Given the description of an element on the screen output the (x, y) to click on. 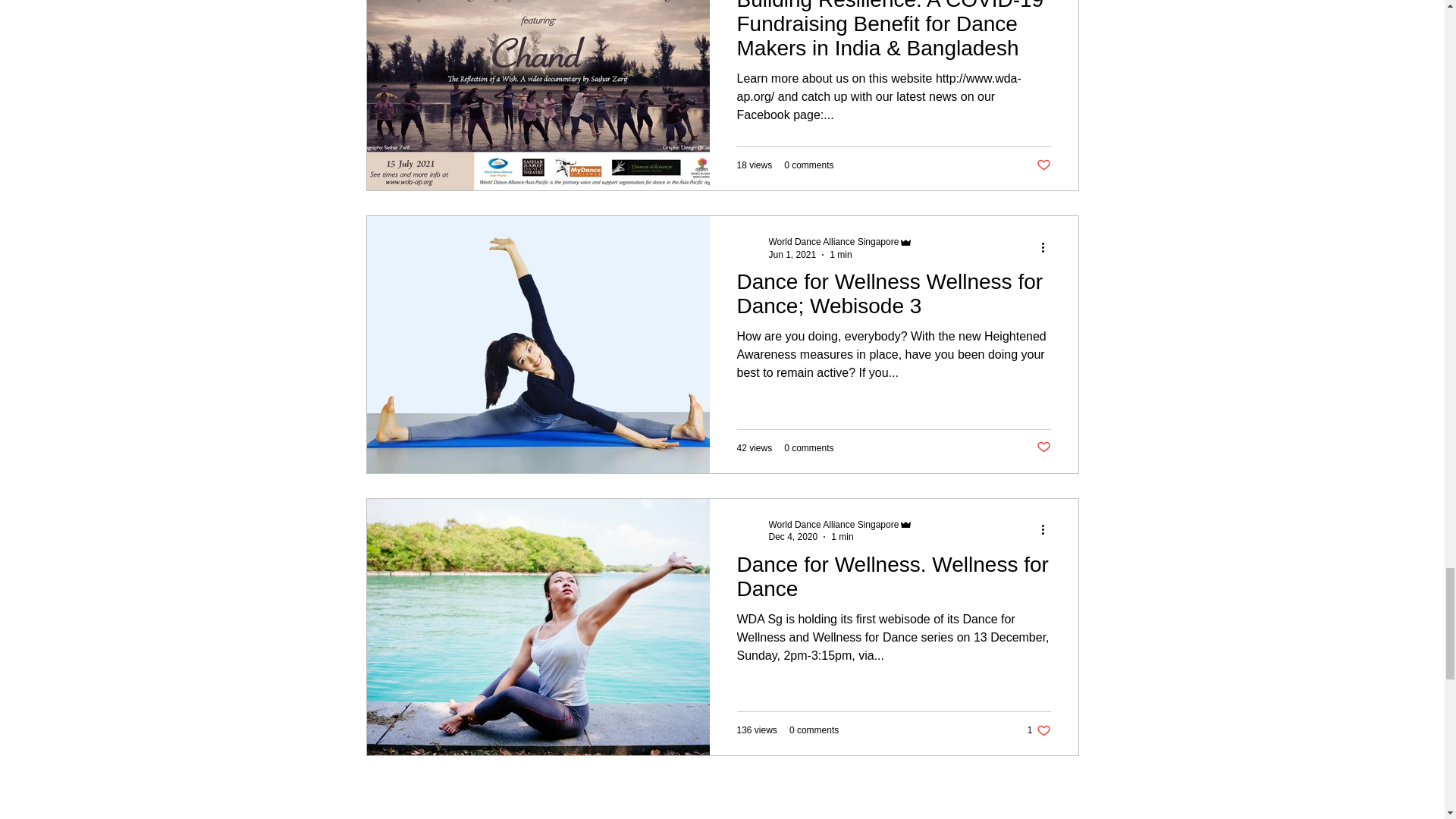
World Dance Alliance Singapore (841, 523)
Jun 1, 2021 (792, 254)
Post not marked as liked (1042, 447)
1 min (842, 536)
Post not marked as liked (1042, 165)
World Dance Alliance Singapore (1039, 730)
0 comments (841, 242)
1 min (808, 448)
0 comments (840, 254)
Dance for Wellness Wellness for Dance; Webisode 3 (808, 164)
World Dance Alliance Singapore (893, 298)
Dance for Wellness. Wellness for Dance (833, 241)
0 comments (893, 581)
World Dance Alliance Singapore (813, 729)
